Given the description of an element on the screen output the (x, y) to click on. 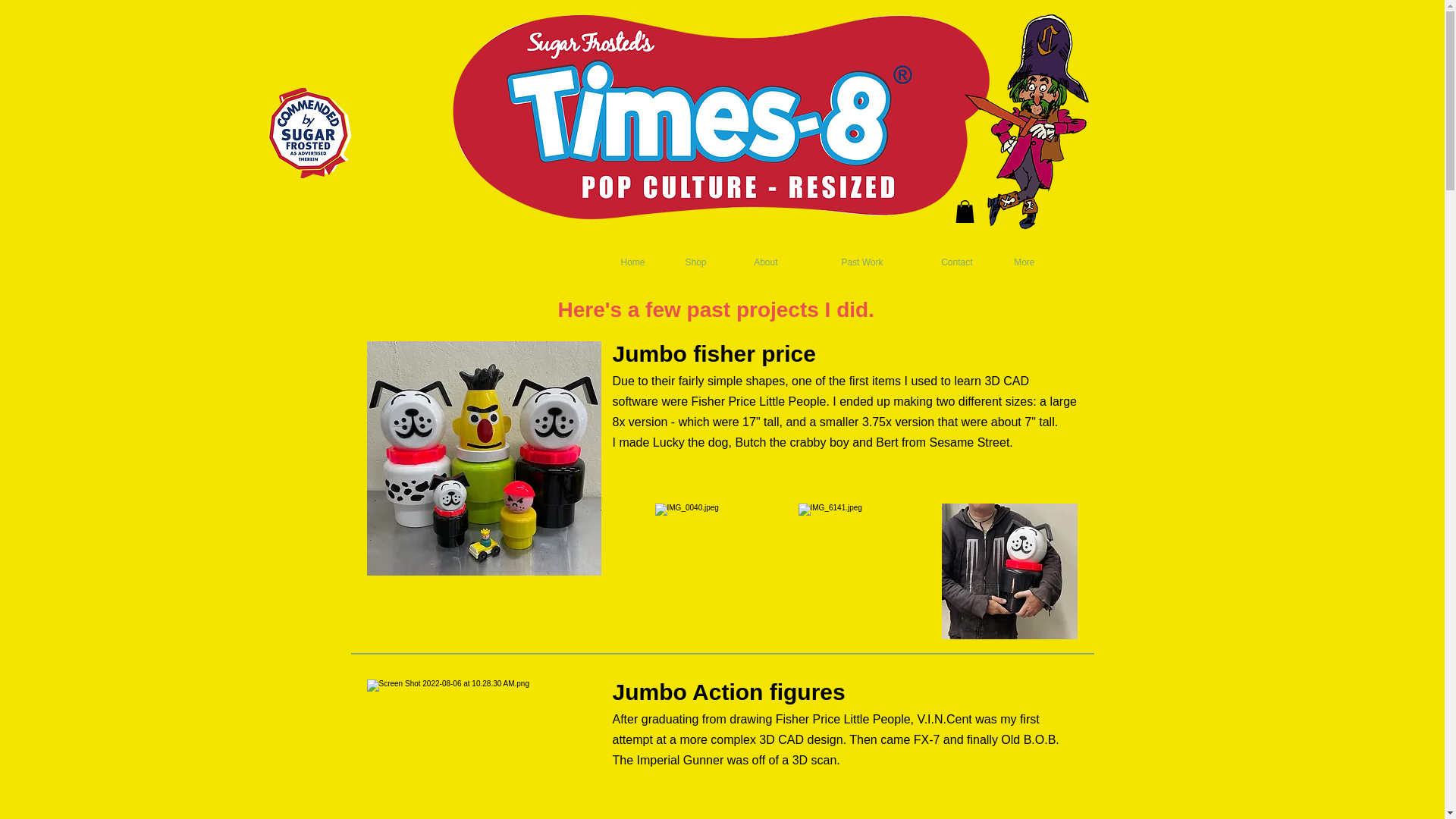
About (753, 262)
Shop (686, 262)
Past Work (841, 262)
Contact (939, 262)
Home (624, 262)
